Given the description of an element on the screen output the (x, y) to click on. 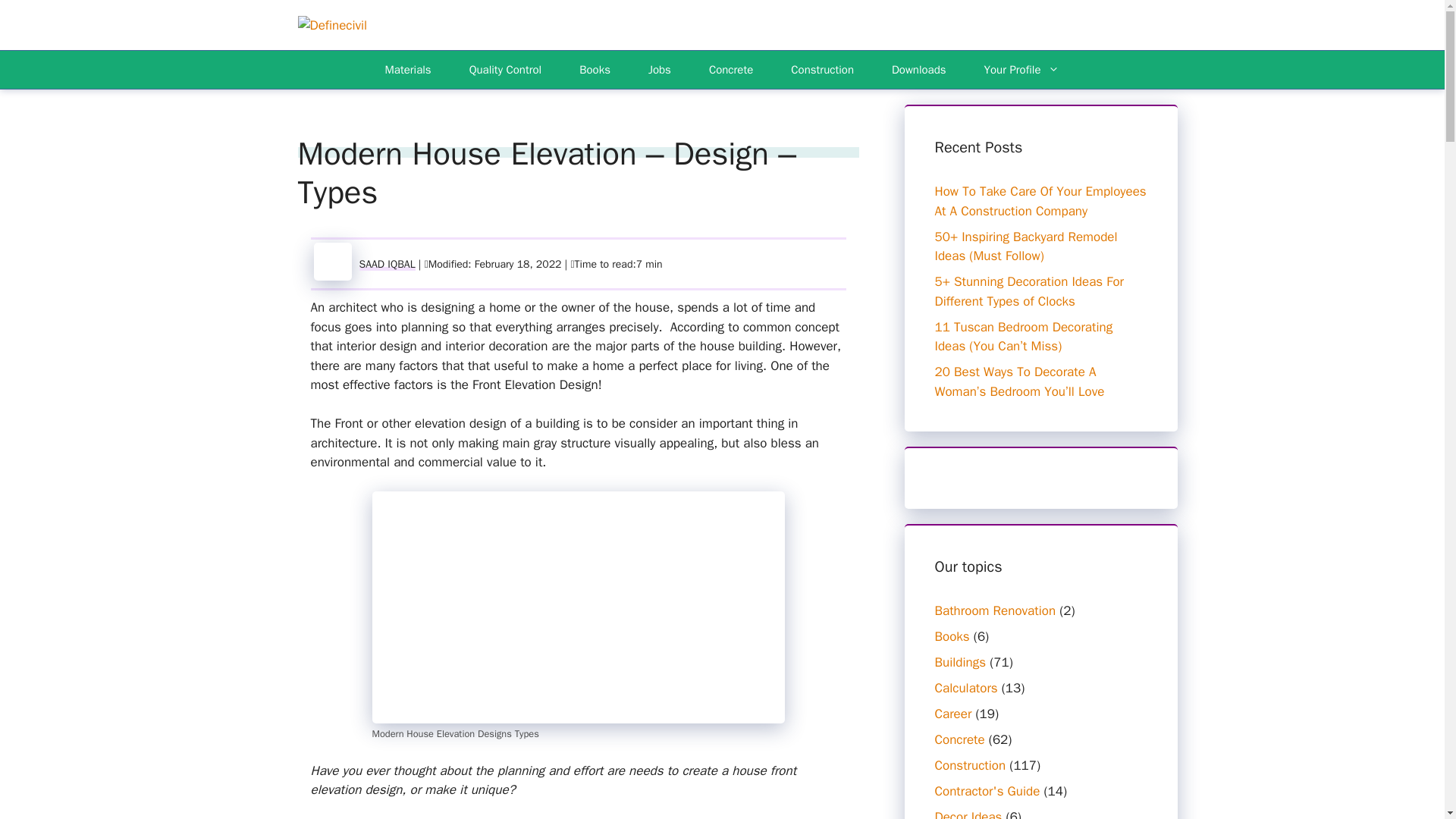
Construction (822, 69)
How To Take Care Of Your Employees At A Construction Company (1039, 201)
Concrete (731, 69)
Jobs (659, 69)
Your Profile (1022, 69)
Calculators (965, 688)
Materials (407, 69)
Buildings (959, 662)
Definecivil (331, 24)
Books (951, 636)
